Given the description of an element on the screen output the (x, y) to click on. 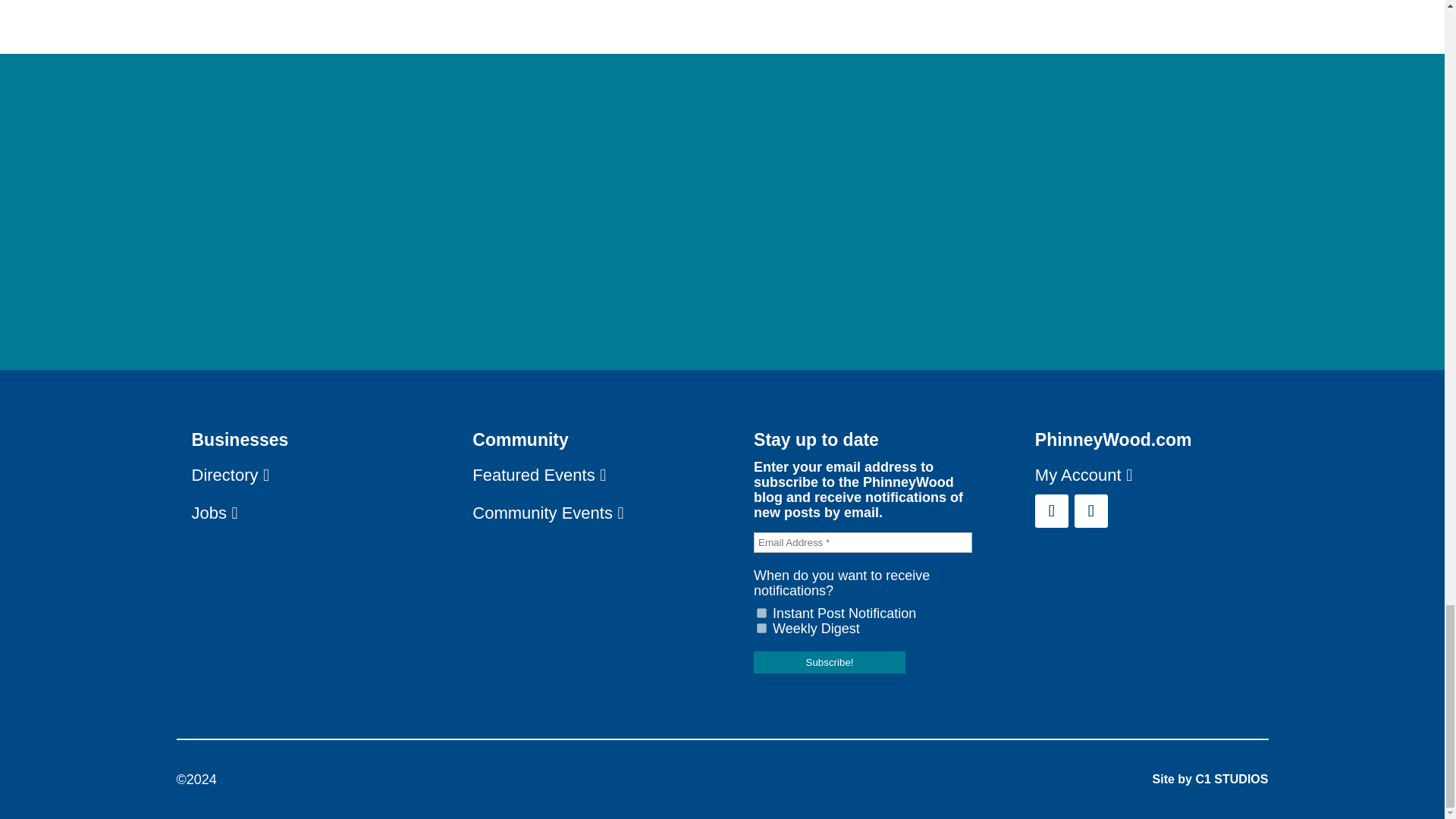
Follow on Facebook (1051, 510)
3 (762, 628)
Email Address (863, 542)
4 (762, 613)
Follow on X (1091, 510)
Subscribe! (829, 662)
